Given the description of an element on the screen output the (x, y) to click on. 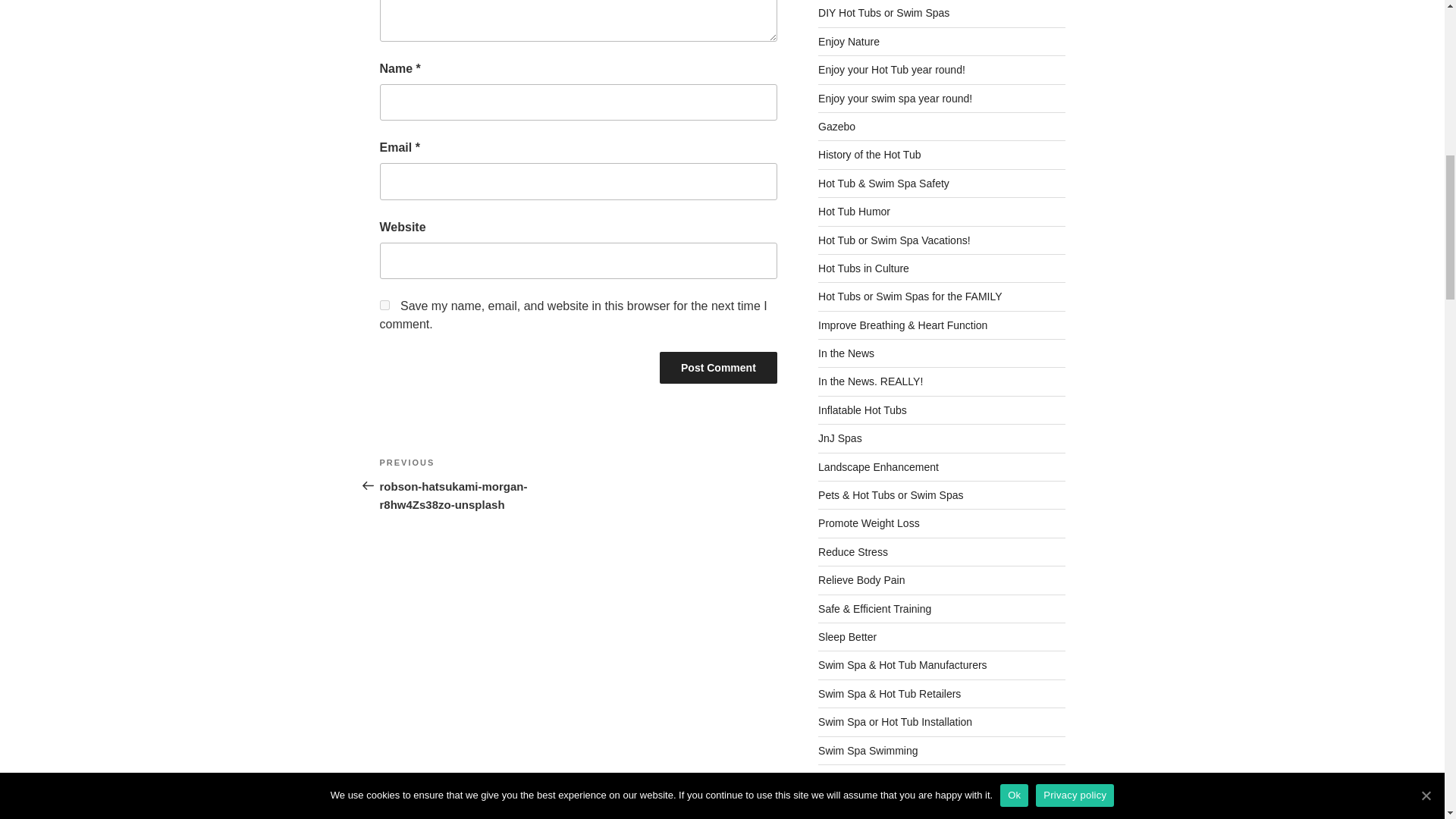
Inflatable Hot Tubs (862, 410)
History of the Hot Tub (869, 154)
DIY Hot Tubs or Swim Spas (883, 12)
Enjoy your swim spa year round! (895, 98)
Post Comment (718, 368)
In the News (846, 353)
In the News. REALLY! (870, 381)
Enjoy Nature (848, 41)
Hot Tubs in Culture (863, 268)
Post Comment (718, 368)
Hot Tubs or Swim Spas for the FAMILY (910, 296)
yes (383, 305)
Hot Tub Humor (853, 211)
Hot Tub or Swim Spa Vacations! (894, 240)
JnJ Spas (839, 438)
